Given the description of an element on the screen output the (x, y) to click on. 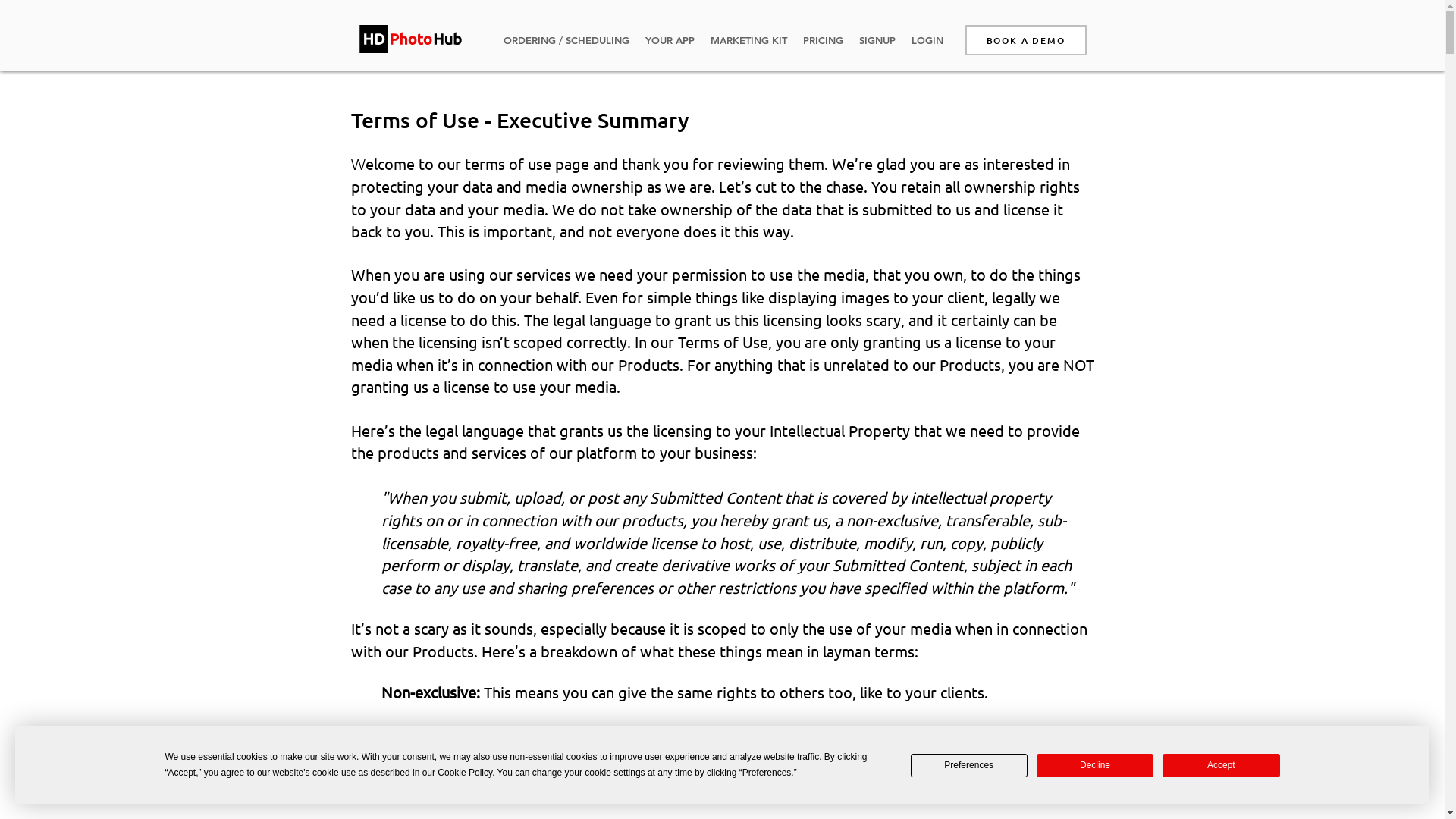
Decline Element type: text (1094, 765)
PRICING Element type: text (822, 39)
ORDERING / SCHEDULING Element type: text (565, 39)
BOOK A DEMO Element type: text (1024, 40)
MARKETING KIT Element type: text (748, 39)
Accept Element type: text (1220, 765)
YOUR APP Element type: text (669, 39)
Preferences Element type: text (968, 765)
LOGIN Element type: text (926, 39)
SIGNUP Element type: text (876, 39)
